Given the description of an element on the screen output the (x, y) to click on. 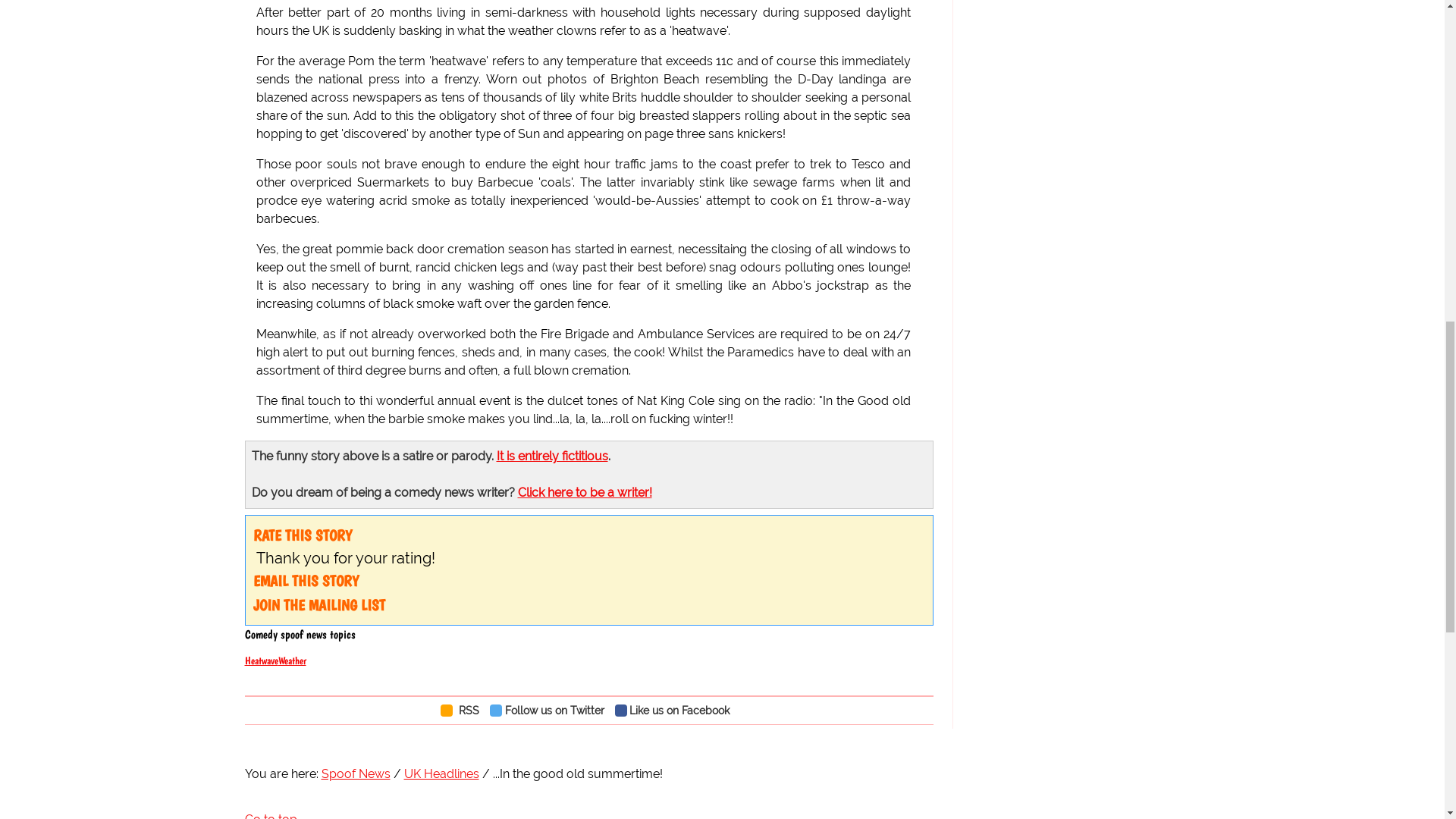
JOIN THE MAILING LIST (319, 605)
Like us on Facebook (676, 709)
It is entirely fictitious (551, 455)
Spoof News (355, 773)
Follow us on Twitter (550, 709)
UK Headlines (441, 773)
View RSS Feed (463, 709)
Heatwave (261, 660)
RSS (463, 709)
Click here to be a writer! (583, 492)
Go to top (270, 815)
EMAIL THIS STORY (305, 580)
Weather (291, 660)
